Given the description of an element on the screen output the (x, y) to click on. 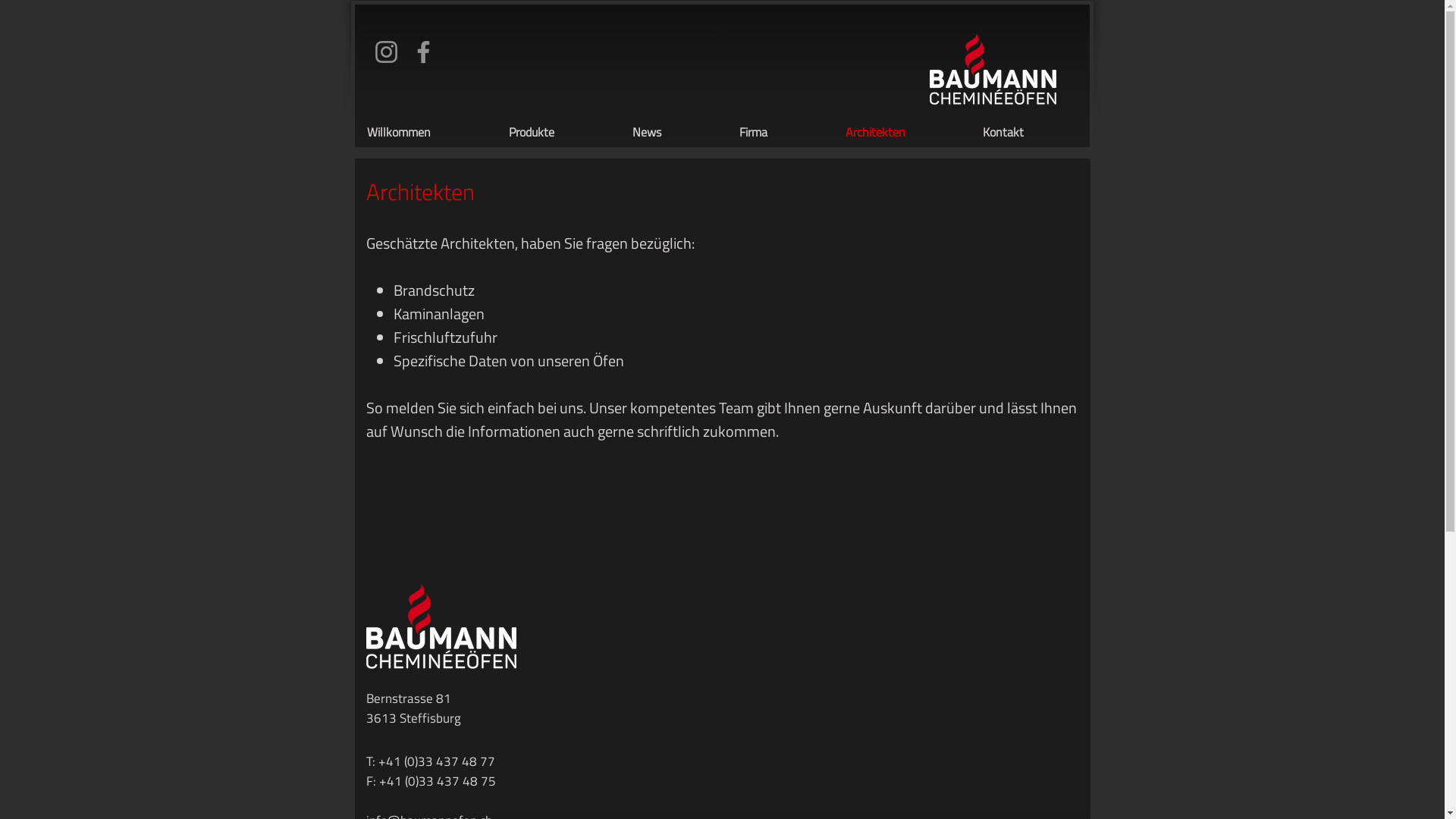
Architekten Element type: text (902, 131)
BaumannCO_Logo_rgb_neg.png Element type: hover (992, 68)
Firma Element type: text (781, 131)
Kontakt Element type: text (1029, 131)
Produkte Element type: text (559, 131)
BaumannCO_Logo_rgb_neg.png Element type: hover (440, 625)
Willkommen Element type: text (425, 131)
News Element type: text (673, 131)
